Given the description of an element on the screen output the (x, y) to click on. 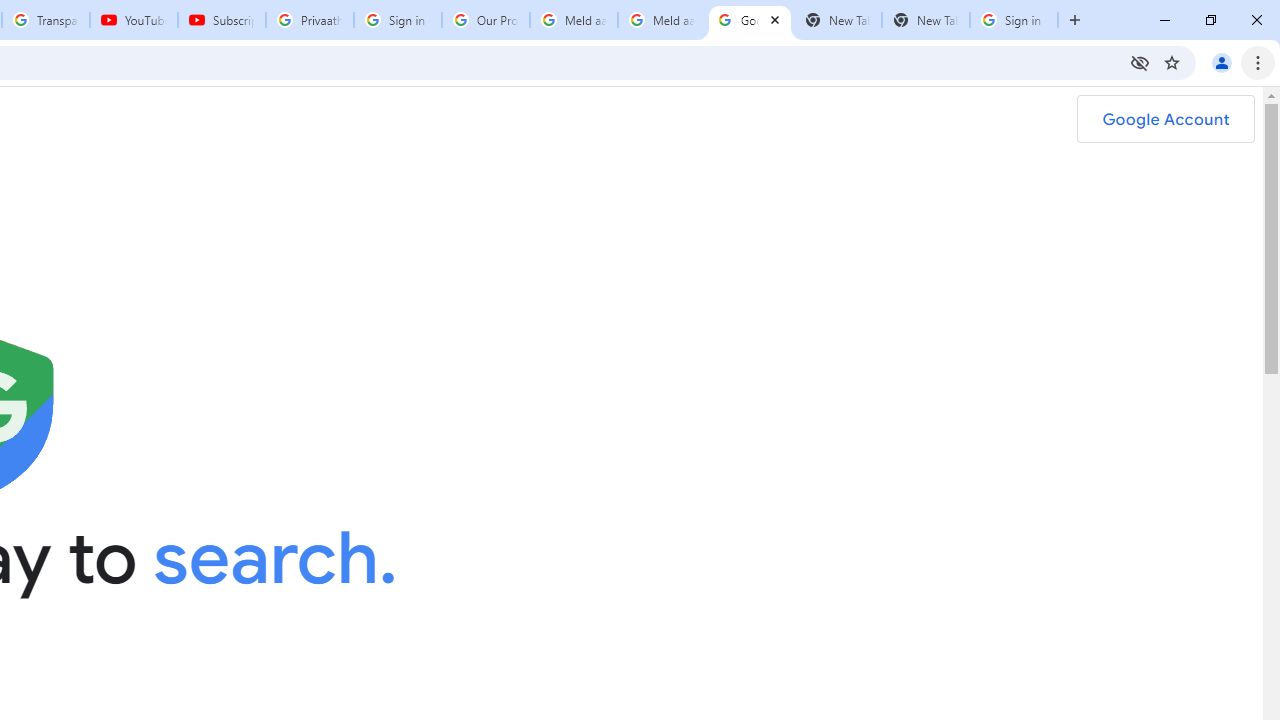
Subscriptions - YouTube (221, 20)
Google Account (1165, 119)
Google Safety Center - Stay Safer Online (749, 20)
Sign in - Google Accounts (397, 20)
New Tab (925, 20)
YouTube (133, 20)
